Given the description of an element on the screen output the (x, y) to click on. 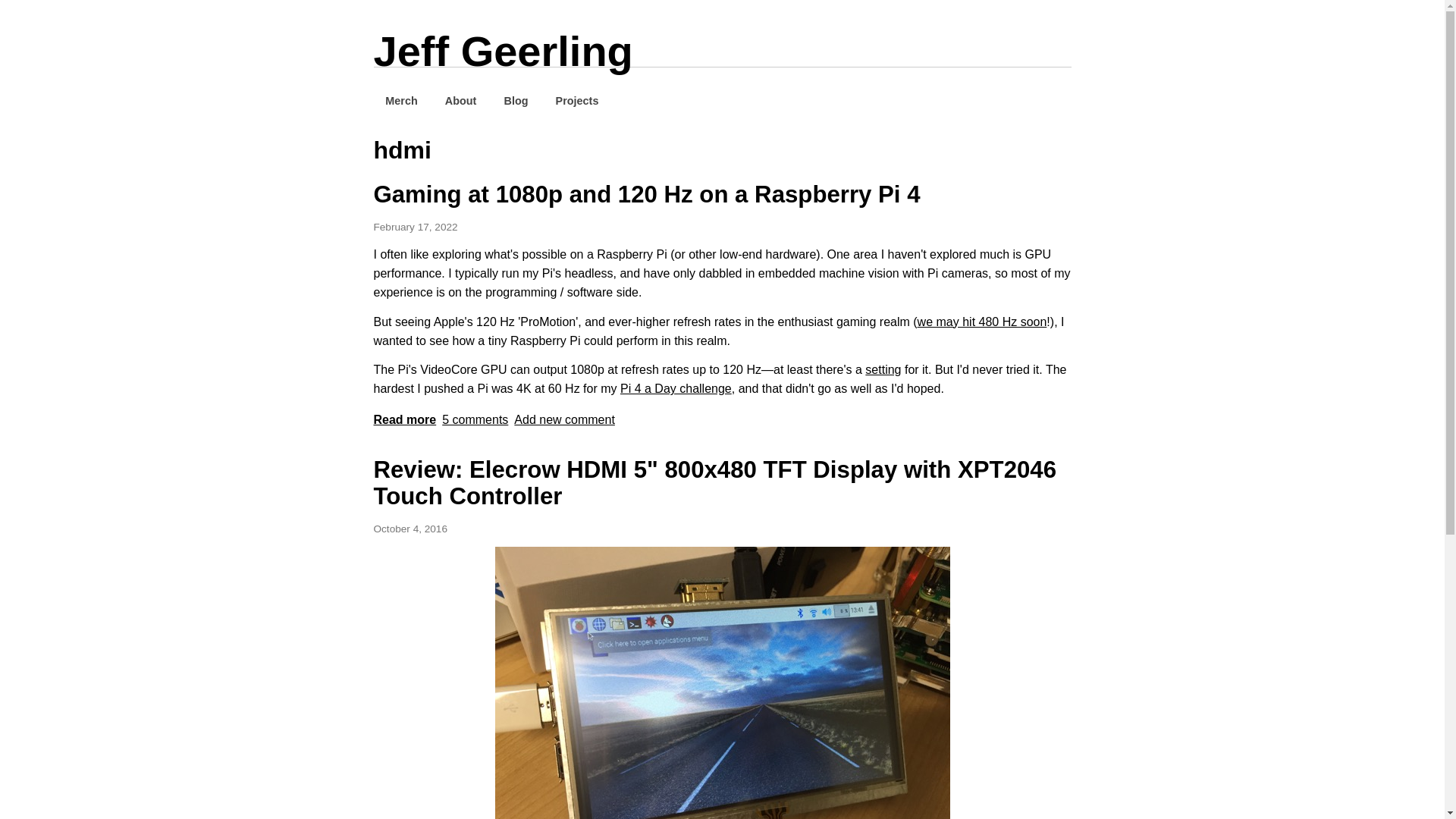
we may hit 480 Hz soon (981, 321)
Jump to the first comment. (475, 419)
Share your thoughts and opinions. (563, 419)
5 comments (475, 419)
Jeff Geerling (501, 51)
About (459, 100)
Add new comment (563, 419)
Projects (577, 100)
Gaming at 1080p and 120 Hz on a Raspberry Pi 4 (403, 419)
